Given the description of an element on the screen output the (x, y) to click on. 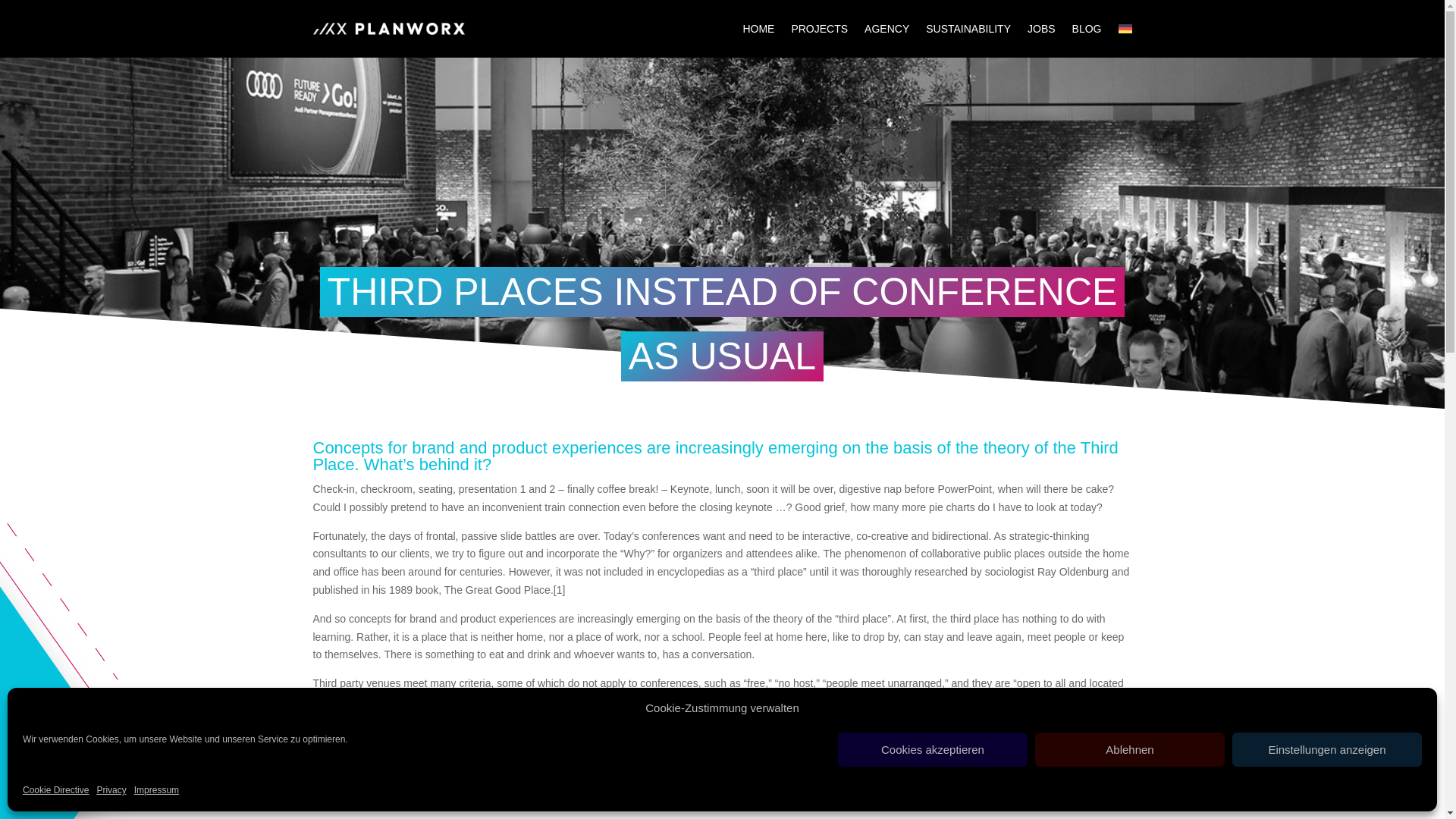
Cookies akzeptieren (932, 749)
Cookie Directive (55, 791)
PROJECTS (818, 28)
SUSTAINABILITY (968, 28)
Privacy (110, 791)
Einstellungen anzeigen (1326, 749)
Impressum (156, 791)
Ablehnen (1129, 749)
